Given the description of an element on the screen output the (x, y) to click on. 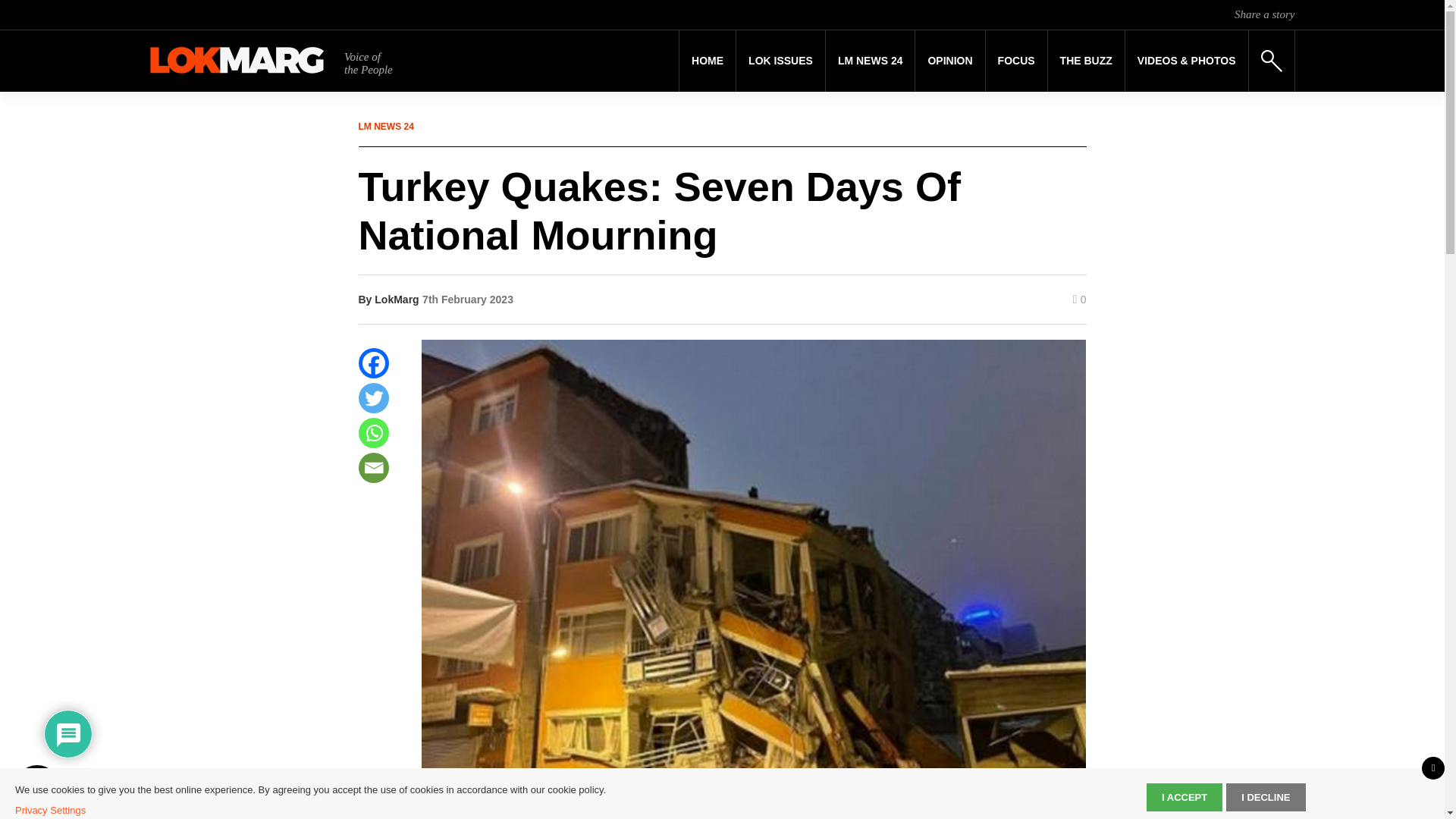
LokMarg (396, 299)
Share a story (1264, 14)
THE BUZZ (1086, 60)
Home (707, 60)
Twitter (373, 398)
Facebook (373, 363)
Whatsapp (373, 432)
THE BUZZ (1086, 60)
LM NEWS 24 (870, 60)
OPINION (949, 60)
LM News 24 (870, 60)
Opinion (949, 60)
Lok Issues (780, 60)
HOME (707, 60)
FOCUS (1015, 60)
